Given the description of an element on the screen output the (x, y) to click on. 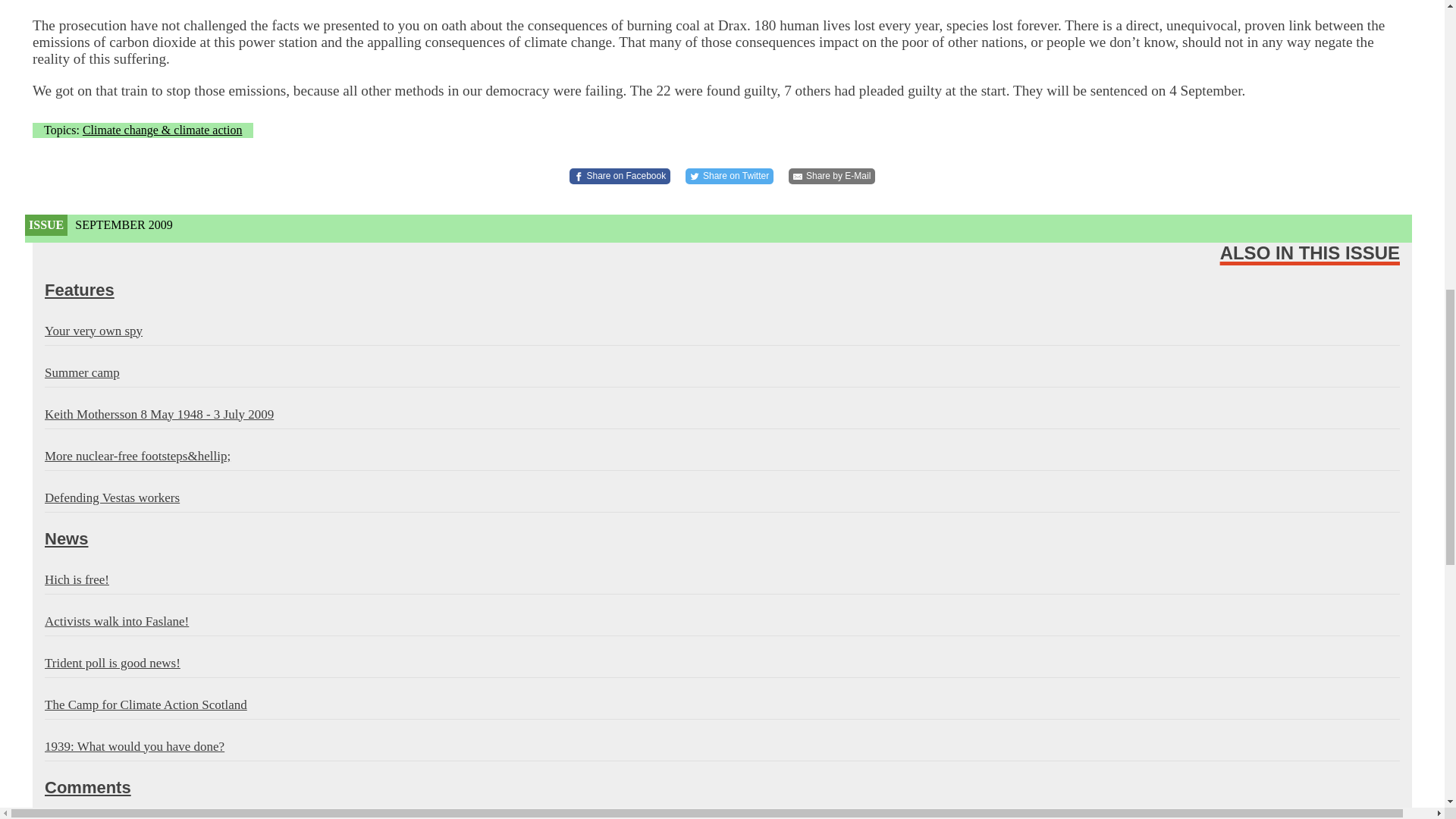
Defending Vestas workers (722, 498)
Activists walk into Faslane! (722, 621)
Keith Mothersson 8 May 1948 - 3 July 2009 (722, 414)
Share by E-Mail (832, 176)
Your very own spy (722, 330)
Summer camp (722, 372)
Hich is free! (722, 579)
Share on Facebook (620, 176)
Share on Twitter (729, 176)
